Given the description of an element on the screen output the (x, y) to click on. 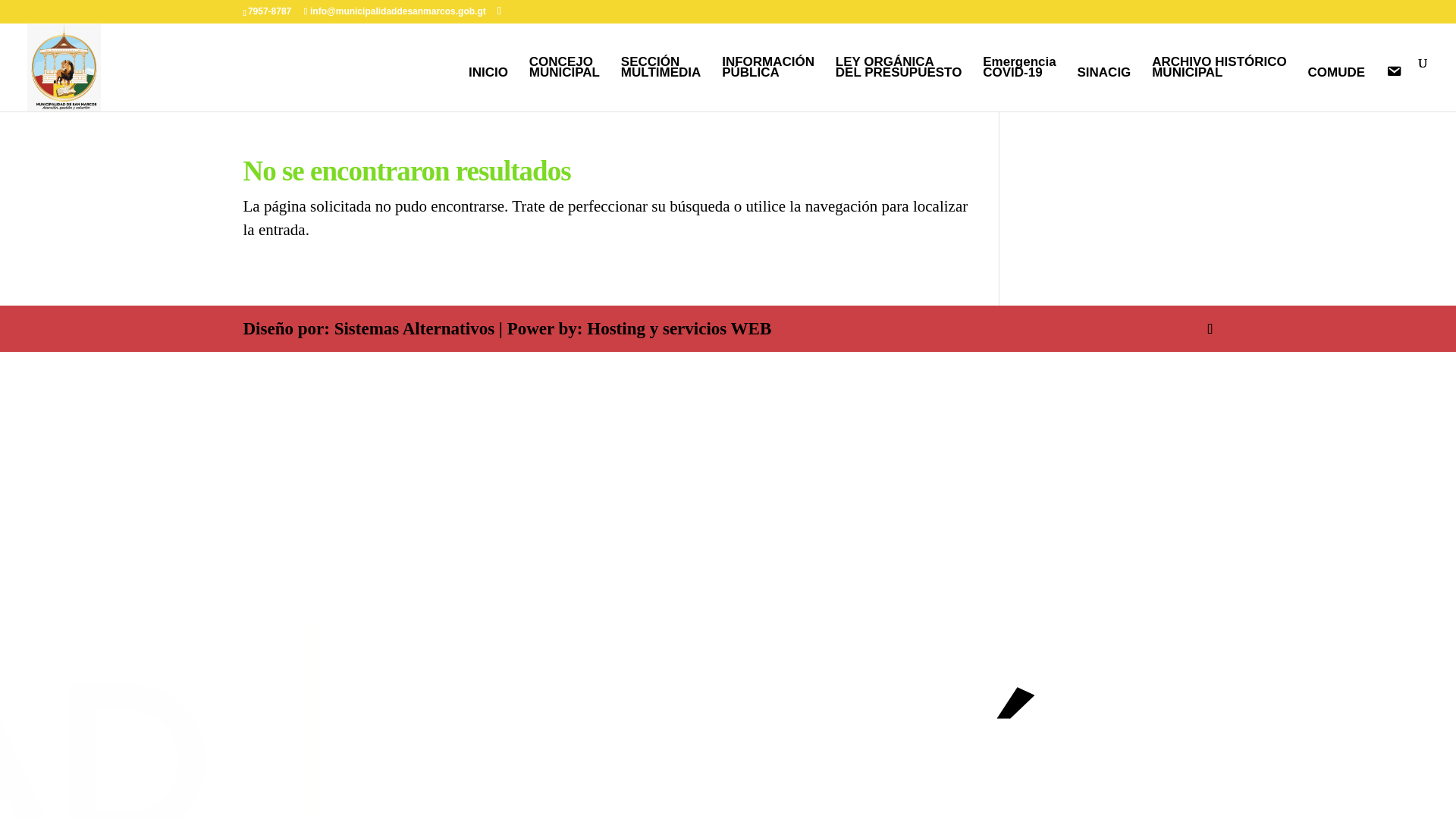
COMUDE (1336, 88)
INICIO (488, 88)
SINACIG (1104, 88)
Sistemas Alternativos (564, 83)
Hosting y servicios WEB (414, 328)
